Given the description of an element on the screen output the (x, y) to click on. 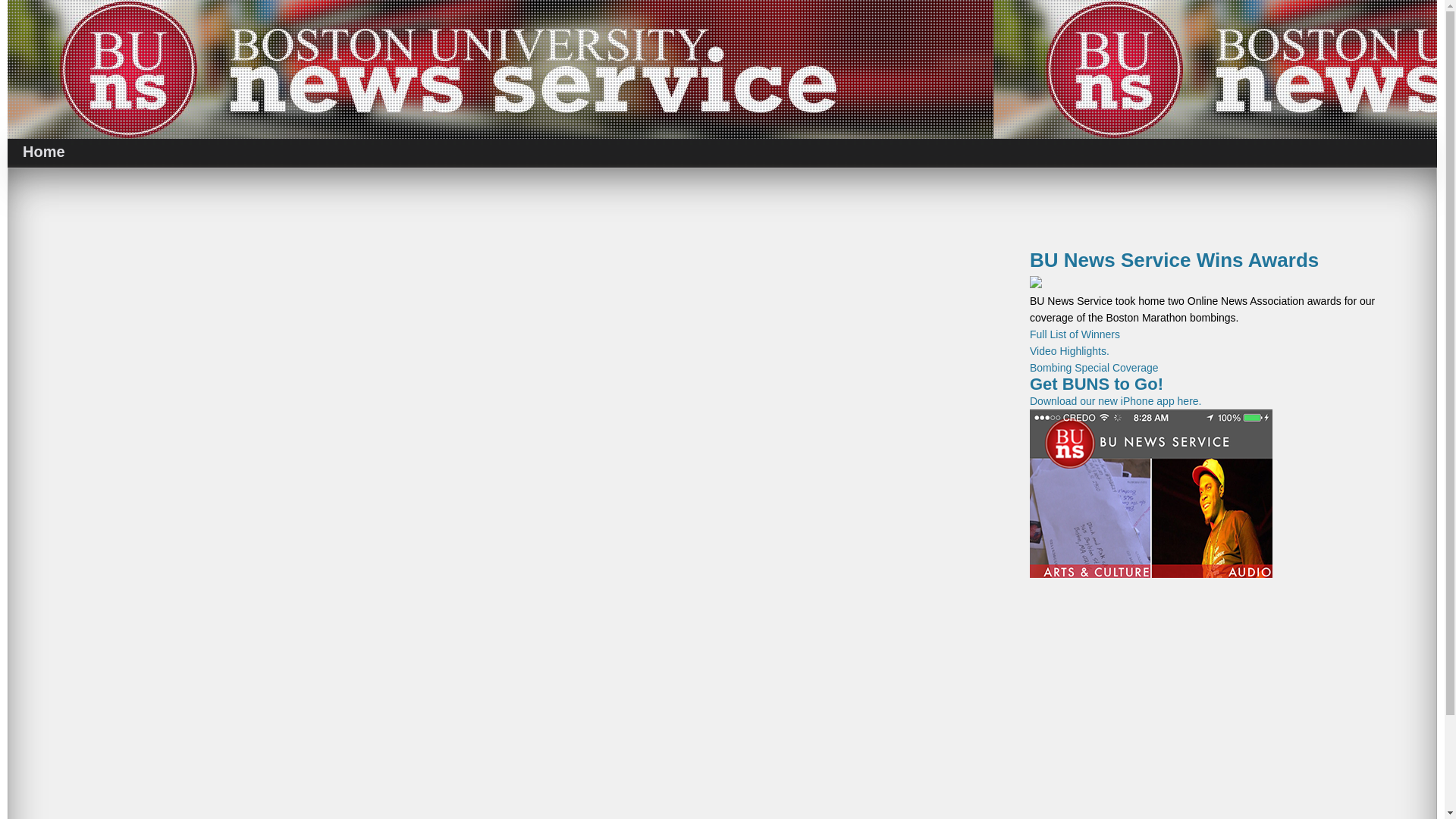
Full List of Winners (1074, 334)
Bombing Special Coverage (1093, 367)
Home (43, 151)
Download our new iPhone app here. (1150, 486)
Video Highlights. (1069, 350)
